Given the description of an element on the screen output the (x, y) to click on. 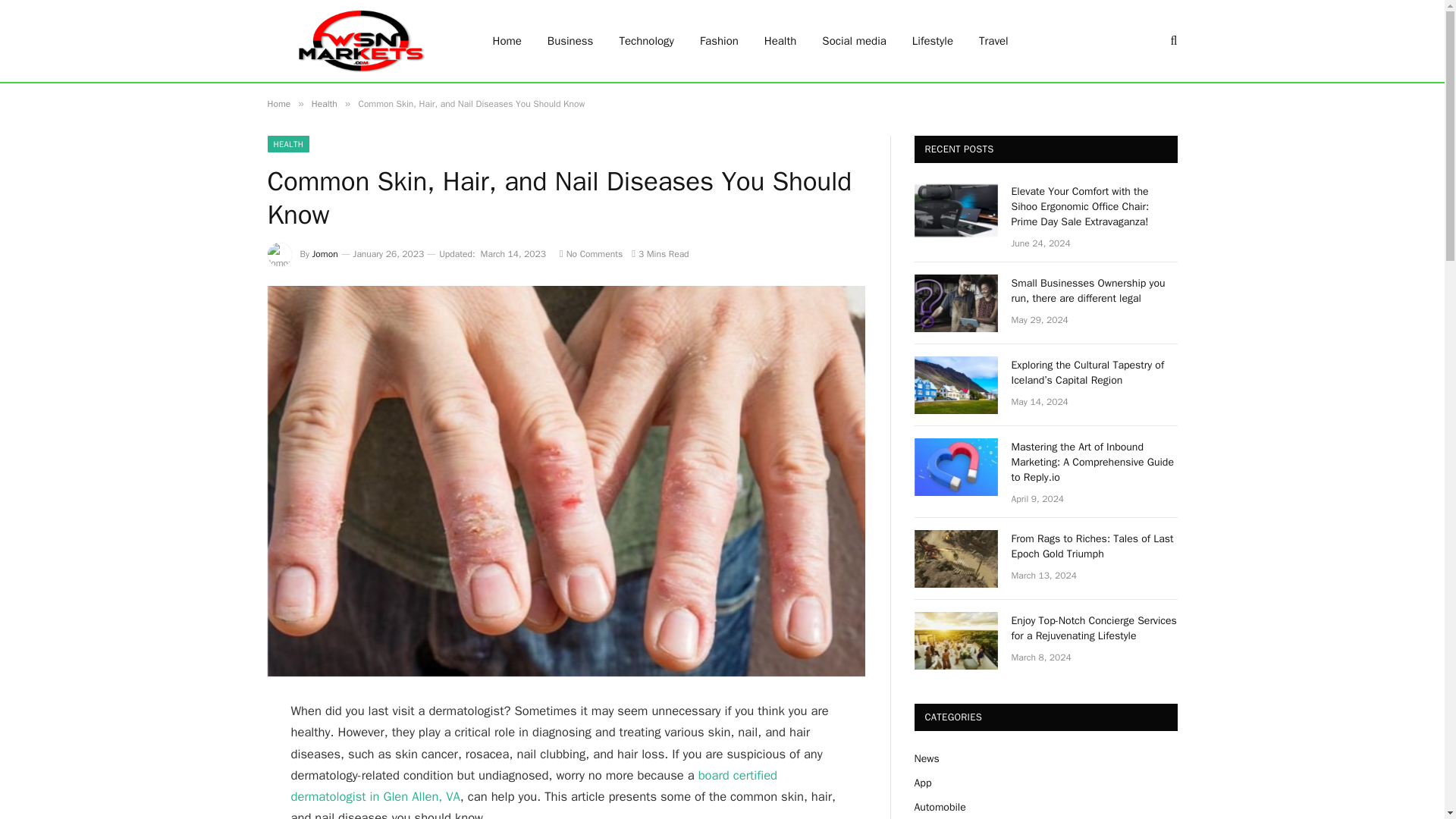
No Comments (591, 254)
Jomon (325, 254)
Home (277, 103)
Wsnmarkets (359, 41)
board certified dermatologist in Glen Allen, VA (534, 785)
Social media (853, 40)
Posts by Jomon (325, 254)
Health (324, 103)
HEALTH (287, 143)
Technology (646, 40)
